Given the description of an element on the screen output the (x, y) to click on. 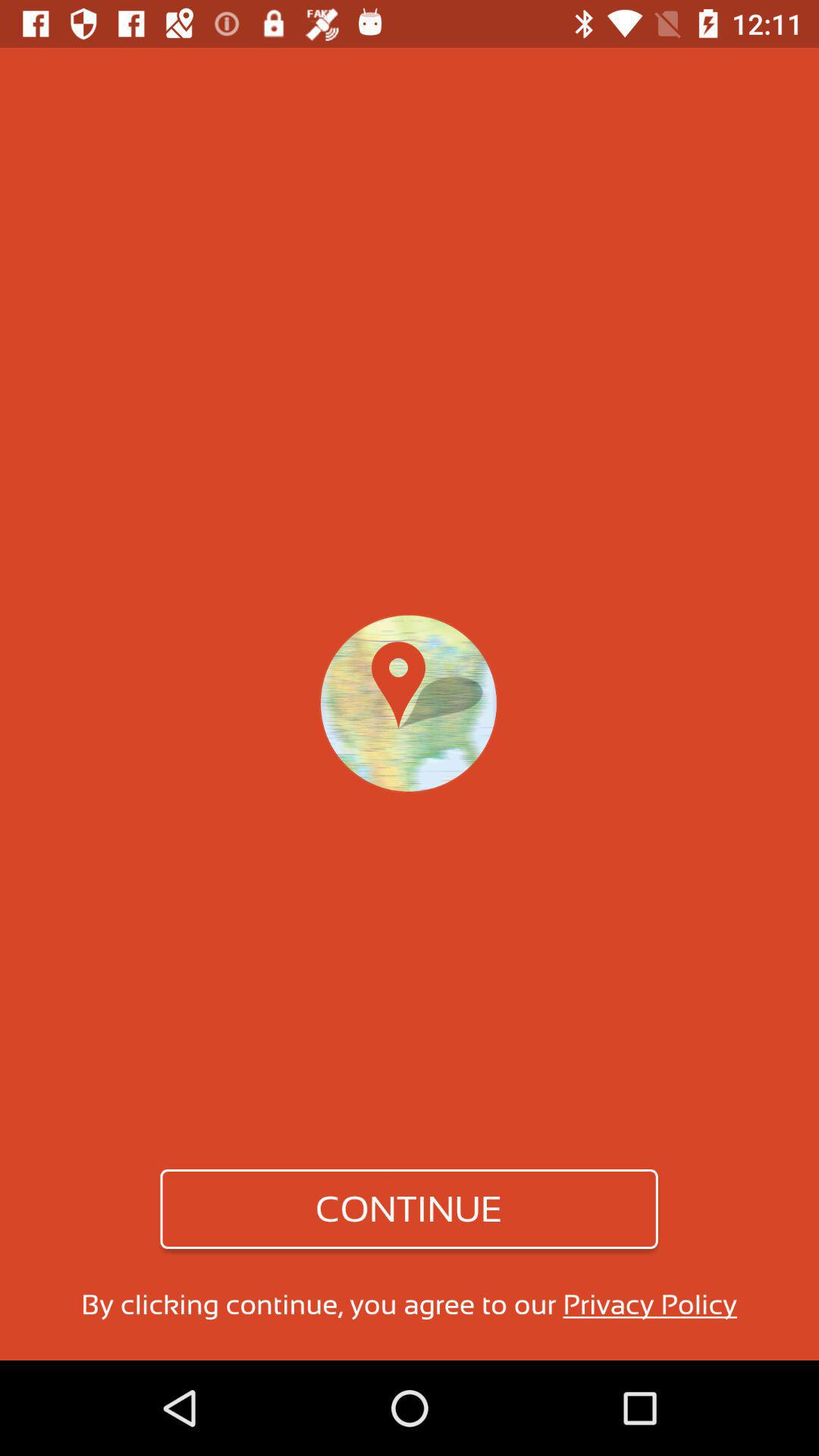
open the item below the continue (409, 1304)
